Given the description of an element on the screen output the (x, y) to click on. 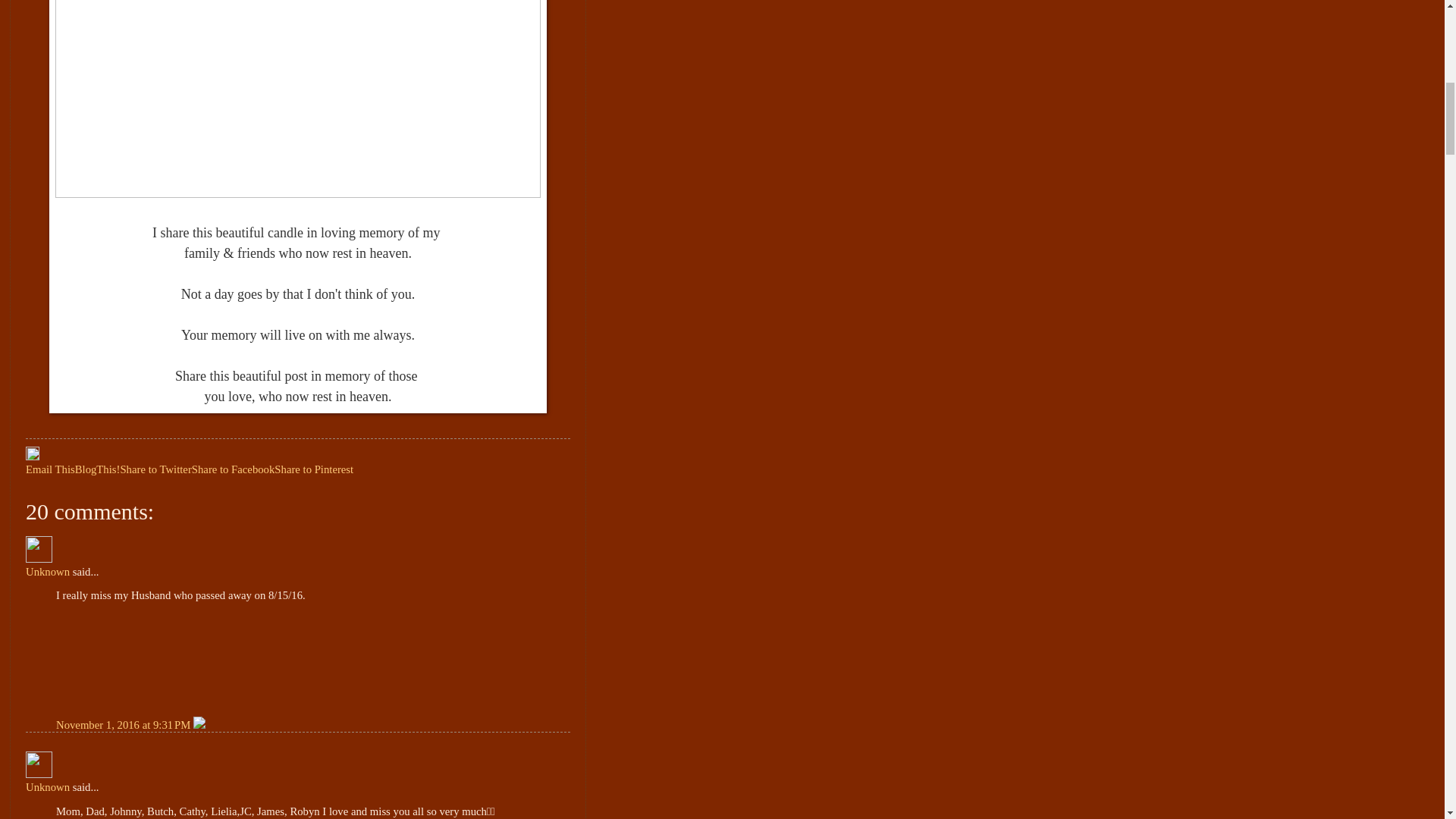
Share to Pinterest (314, 469)
Delete Comment (199, 725)
BlogThis! (97, 469)
Share to Pinterest (314, 469)
Email This (50, 469)
Share to Twitter (154, 469)
Edit Post (32, 456)
Email This (50, 469)
Unknown (39, 764)
Unknown (47, 571)
Share to Twitter (154, 469)
comment permalink (124, 725)
BlogThis! (97, 469)
Unknown (39, 549)
